Given the description of an element on the screen output the (x, y) to click on. 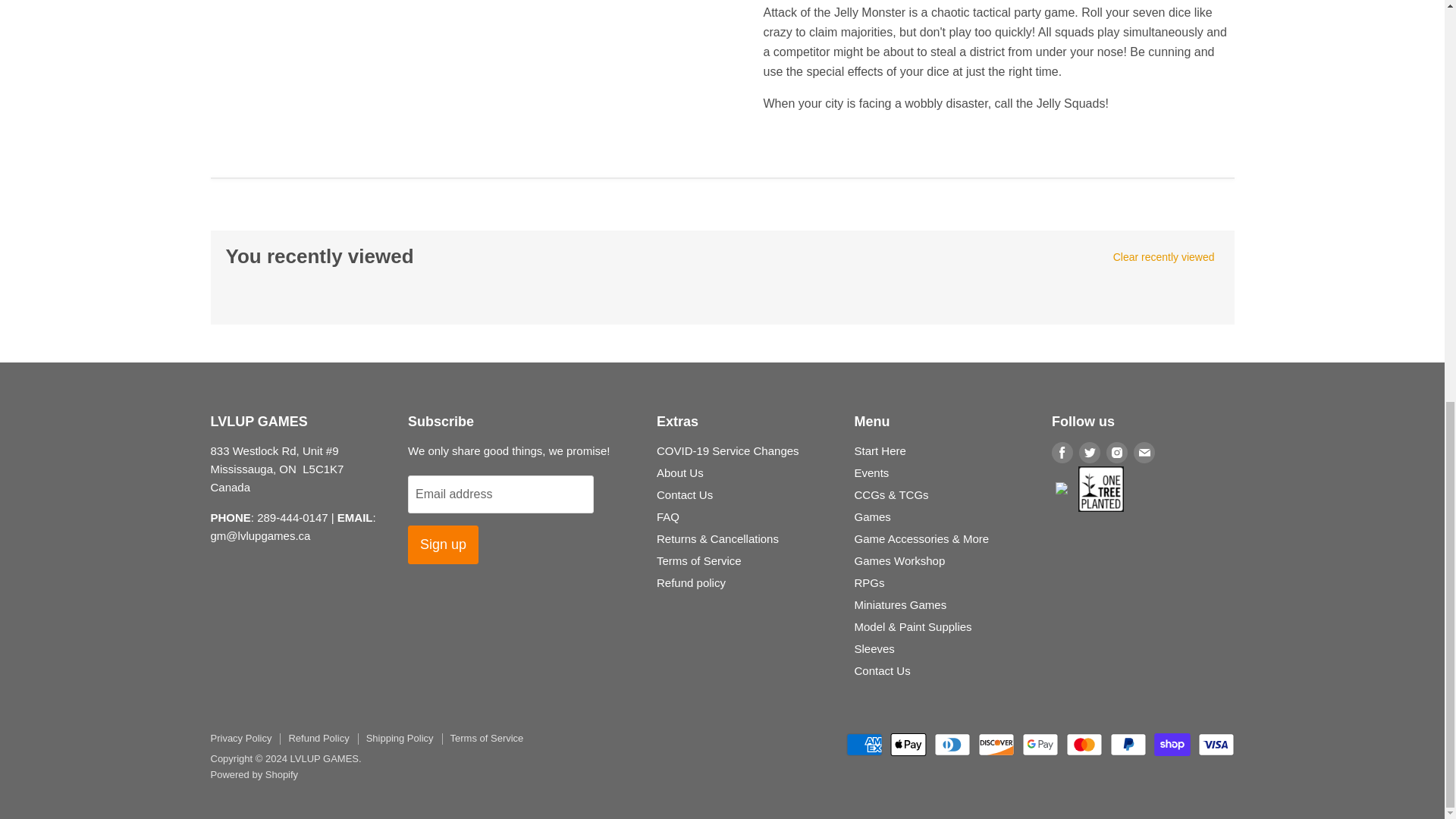
Twitter (1089, 452)
Facebook (1061, 452)
Instagram (1117, 452)
E-mail (1144, 452)
